Given the description of an element on the screen output the (x, y) to click on. 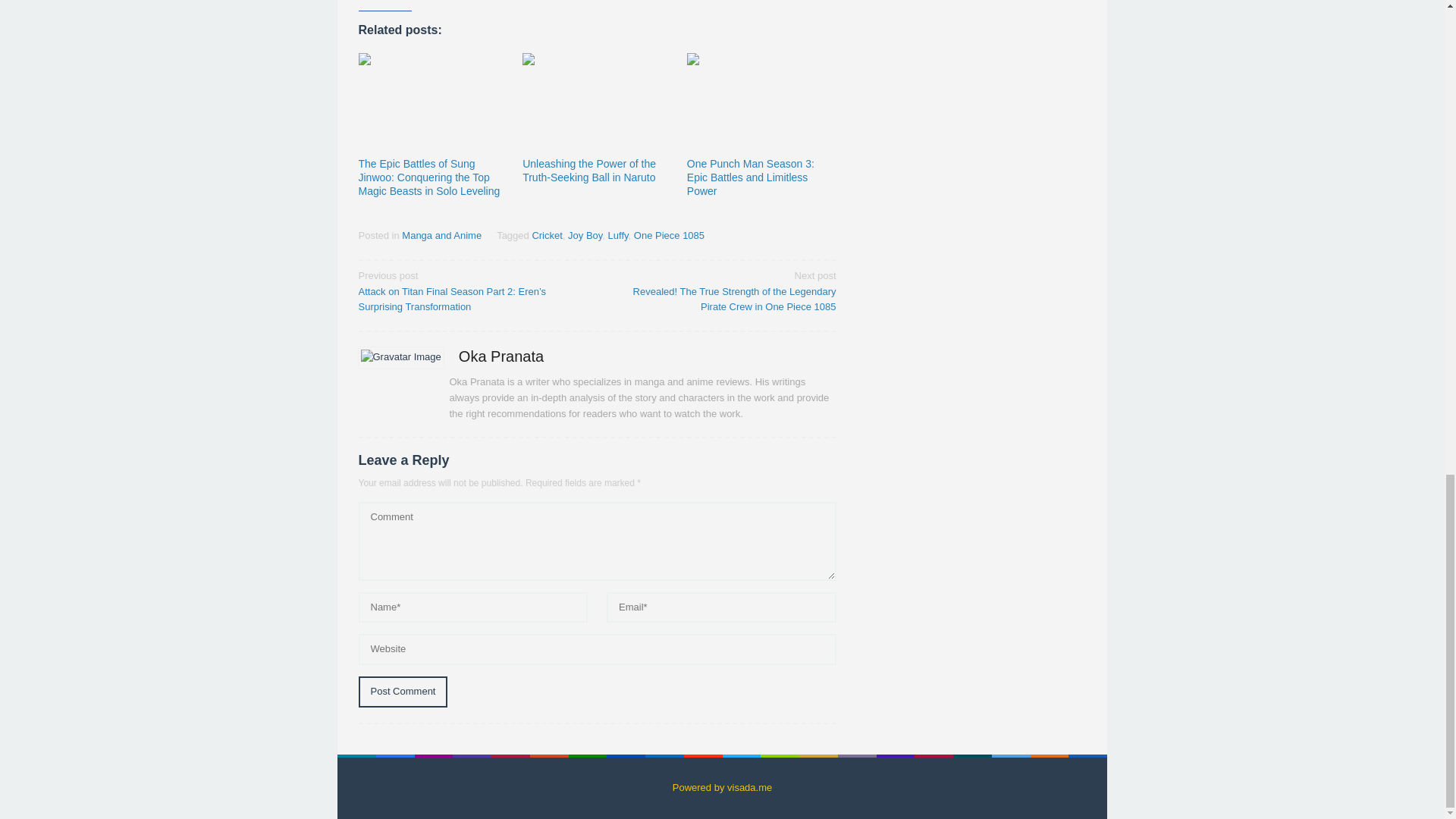
Manga and Anime (441, 235)
Oka Pranata (500, 356)
Post Comment (402, 691)
Cricket (546, 235)
Post Comment (402, 691)
Gravatar (400, 357)
One Punch Man Season 3: Epic Battles and Limitless Power (750, 177)
